Given the description of an element on the screen output the (x, y) to click on. 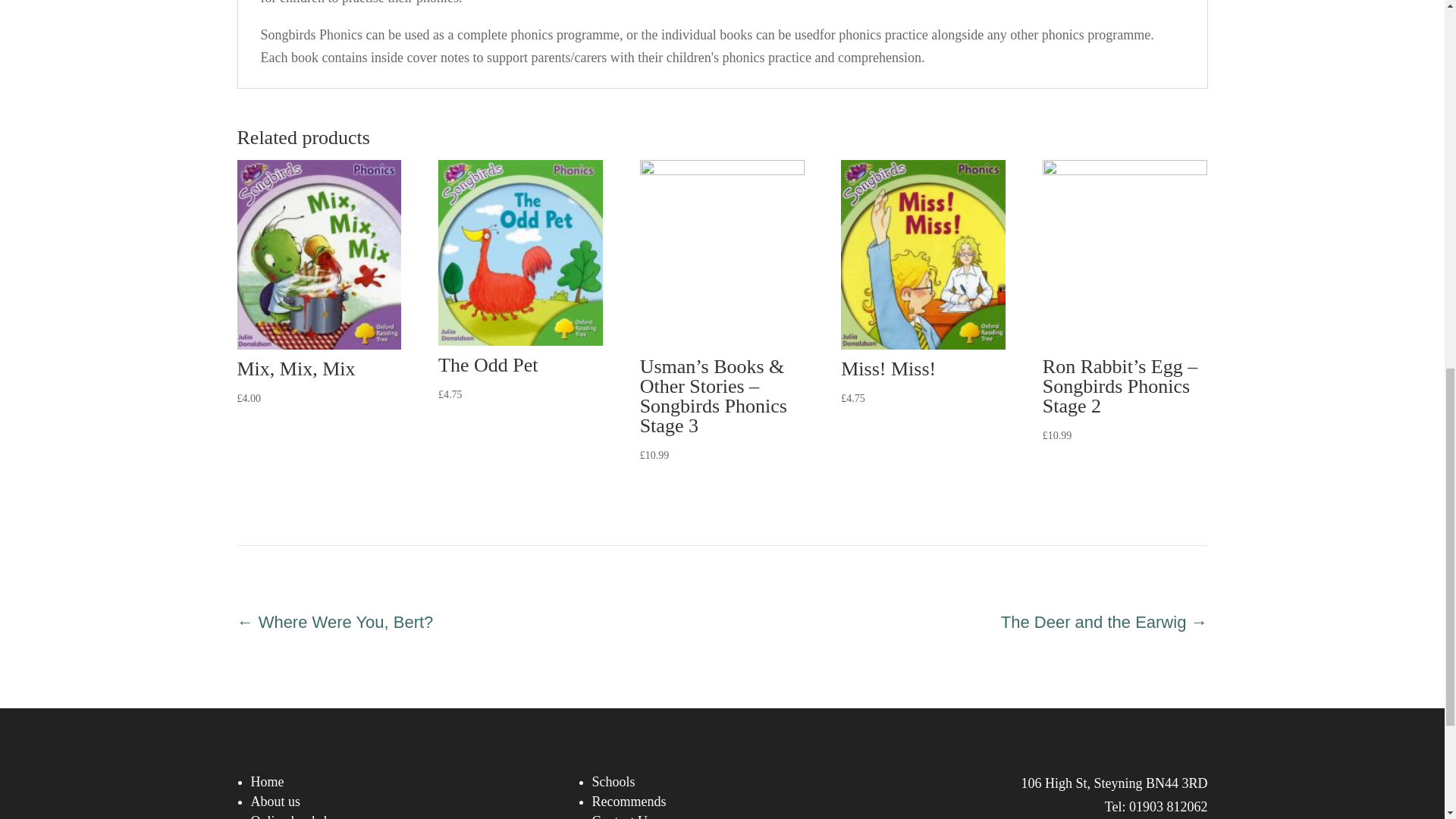
Online bookshop (296, 816)
Home (266, 781)
About us (274, 801)
